Given the description of an element on the screen output the (x, y) to click on. 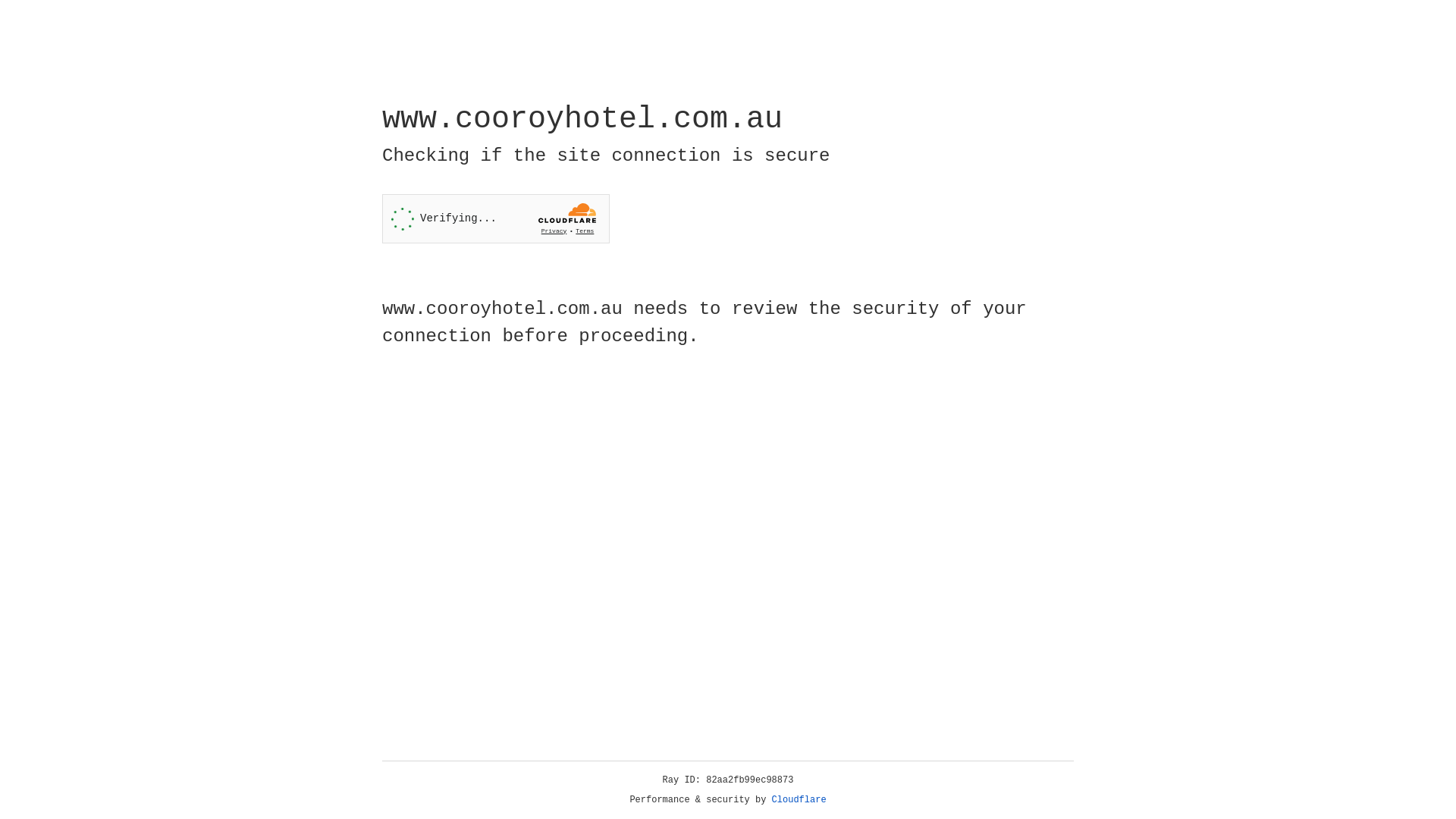
Widget containing a Cloudflare security challenge Element type: hover (495, 218)
Cloudflare Element type: text (798, 799)
